Given the description of an element on the screen output the (x, y) to click on. 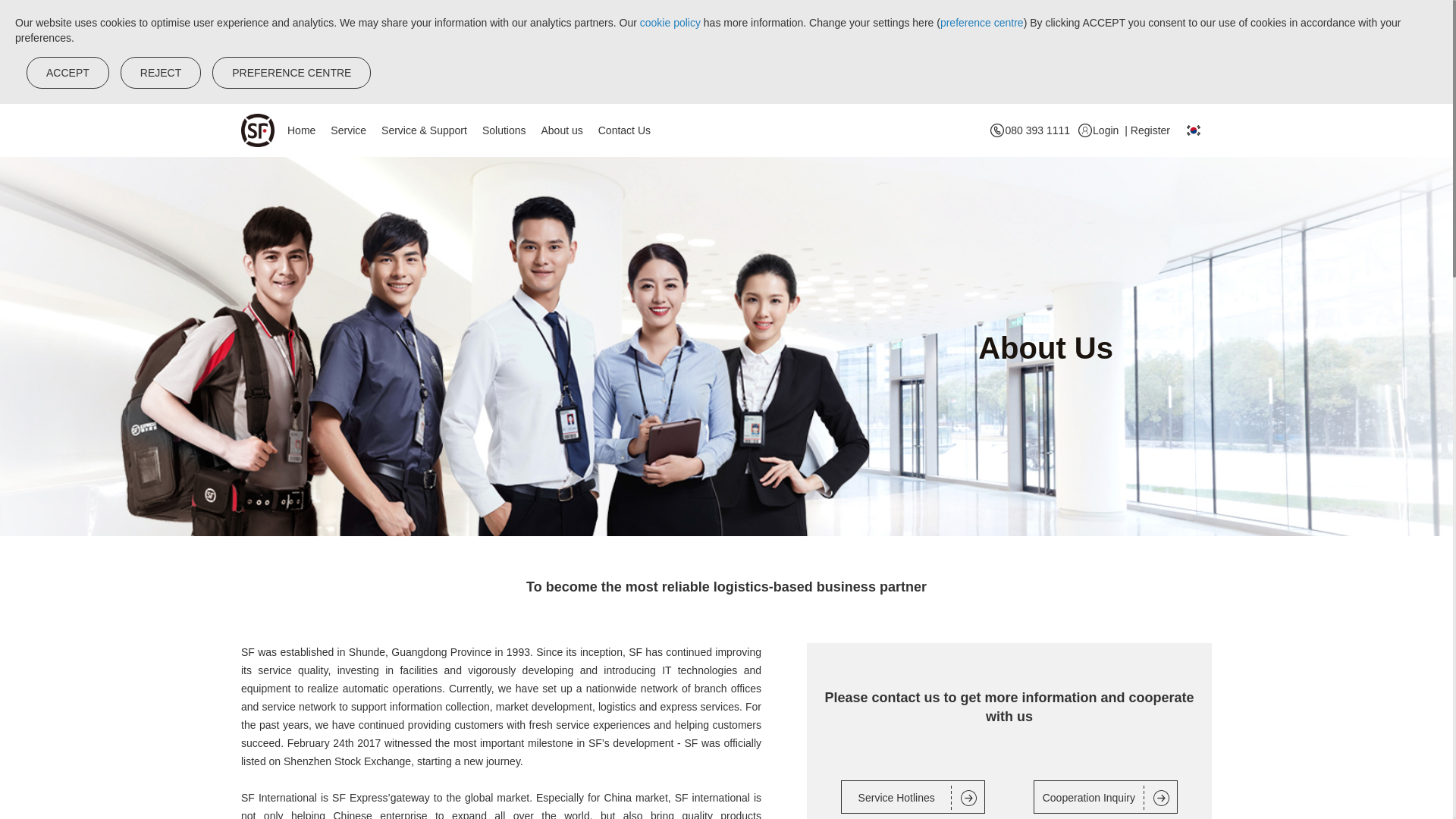
REJECT (160, 72)
cookie policy (671, 22)
preference centre (981, 22)
ACCEPT (67, 72)
PREFERENCE CENTRE (291, 72)
